Given the description of an element on the screen output the (x, y) to click on. 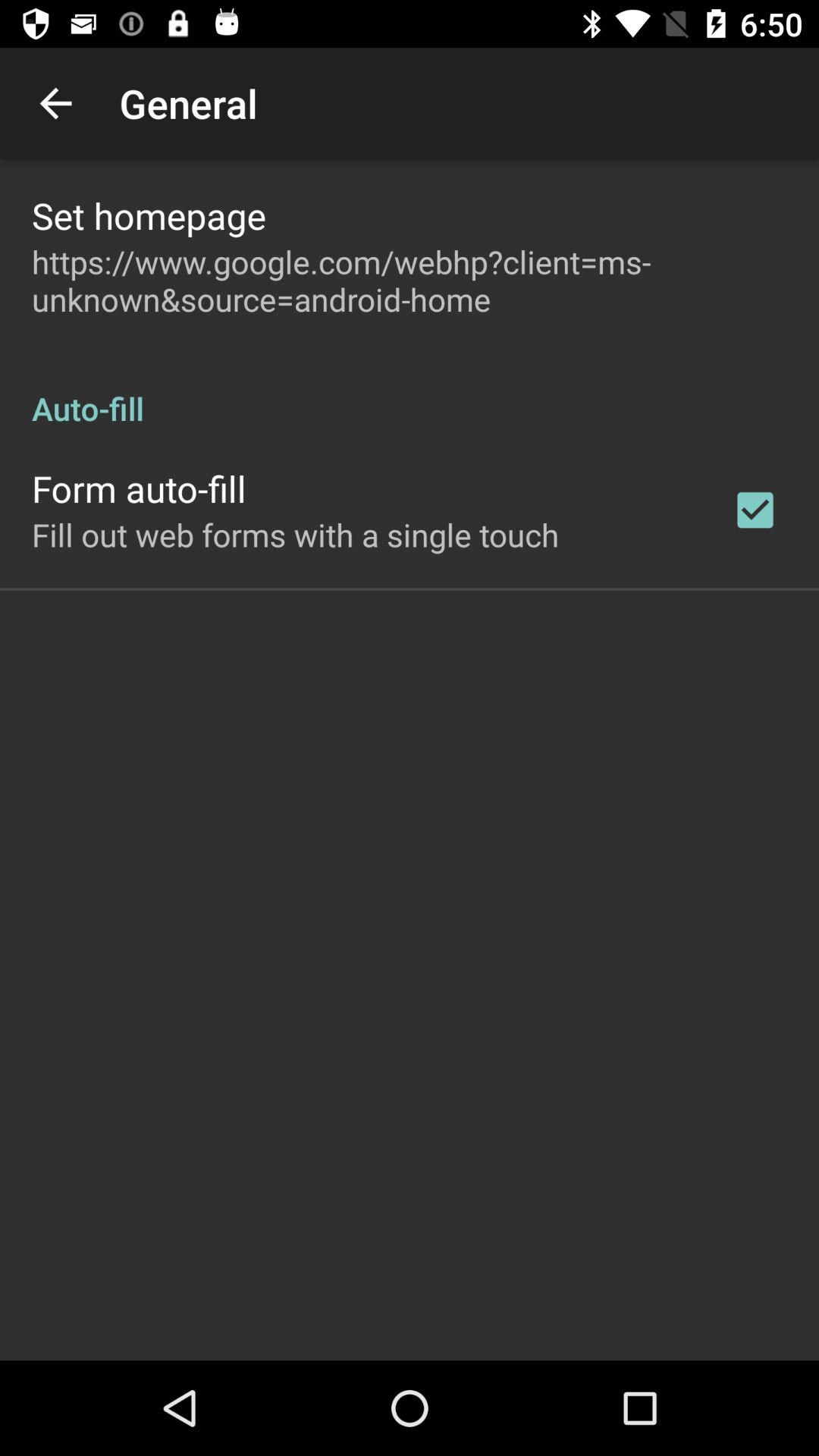
tap app to the right of fill out web icon (755, 510)
